Given the description of an element on the screen output the (x, y) to click on. 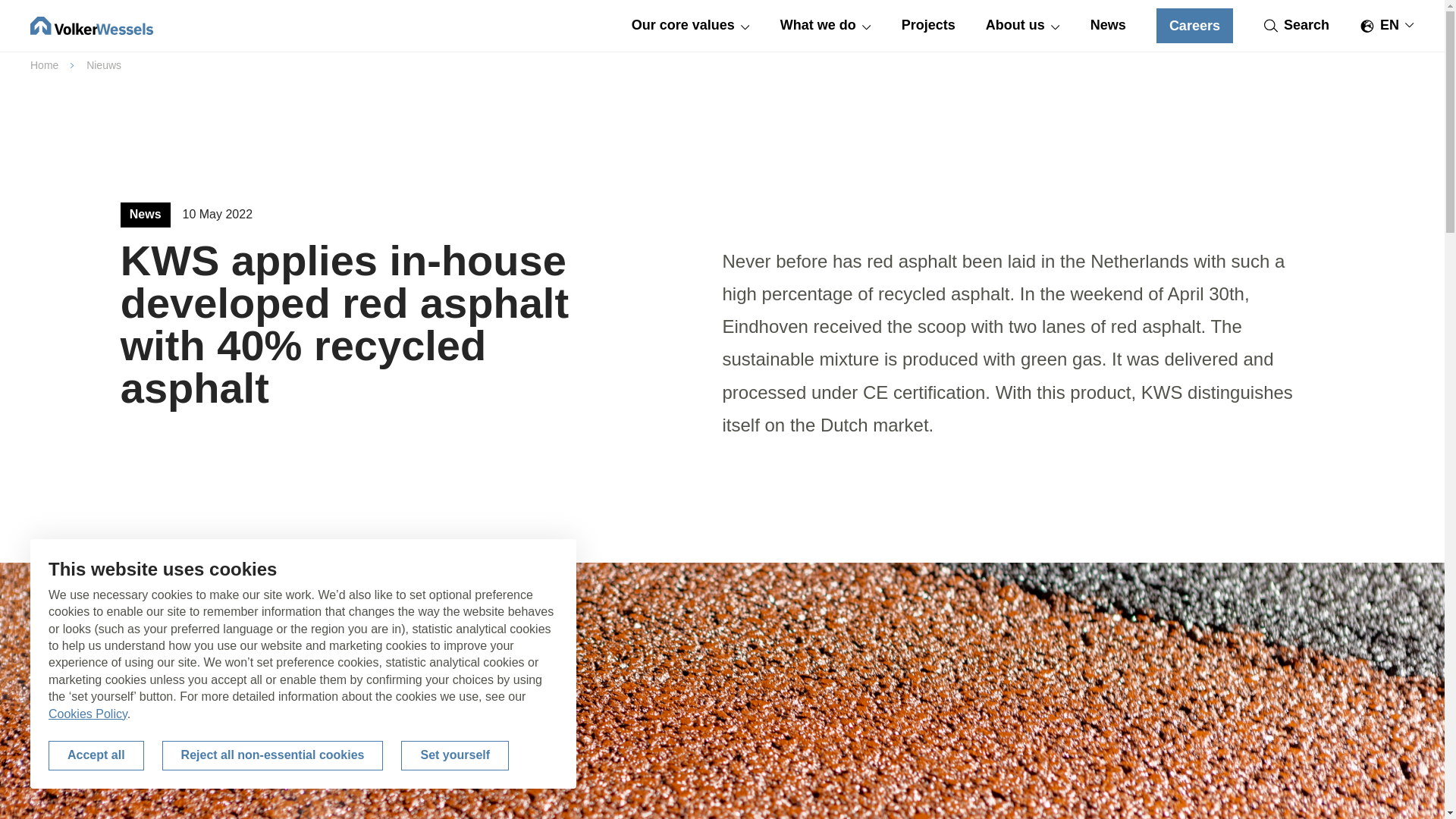
Careers (1194, 25)
Projects (928, 25)
About us (1022, 25)
EN (1386, 25)
What we do (825, 25)
Search (1296, 25)
Our core values (690, 25)
